Given the description of an element on the screen output the (x, y) to click on. 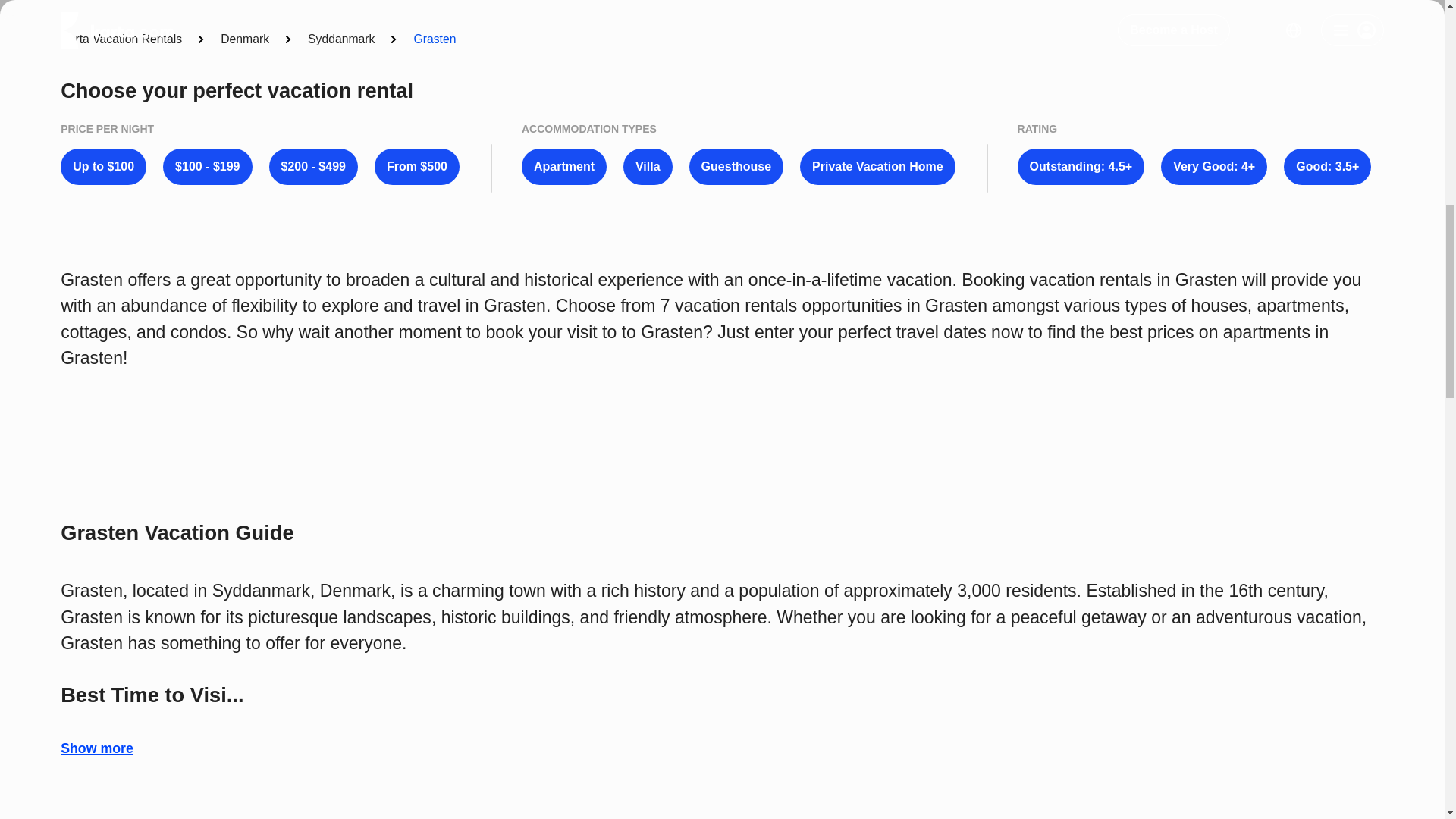
Villa (647, 166)
Karta Vacation Rentals (121, 38)
Apartment (564, 166)
Private Vacation Home (877, 166)
Syddanmark (340, 38)
Guesthouse (735, 166)
Denmark (245, 38)
